Given the description of an element on the screen output the (x, y) to click on. 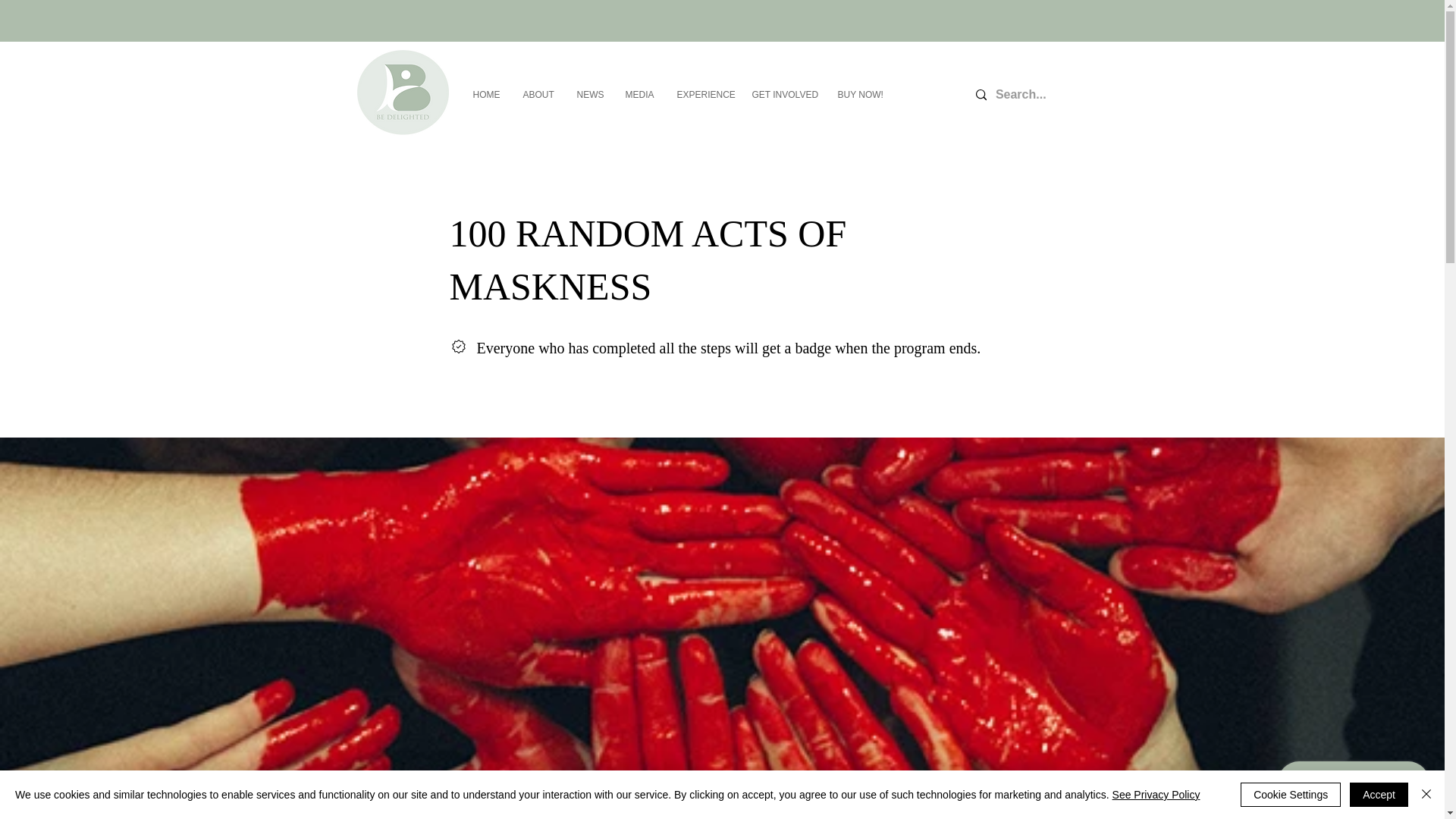
HOME (486, 94)
NEWS (590, 94)
GET INVOLVED (782, 94)
